Given the description of an element on the screen output the (x, y) to click on. 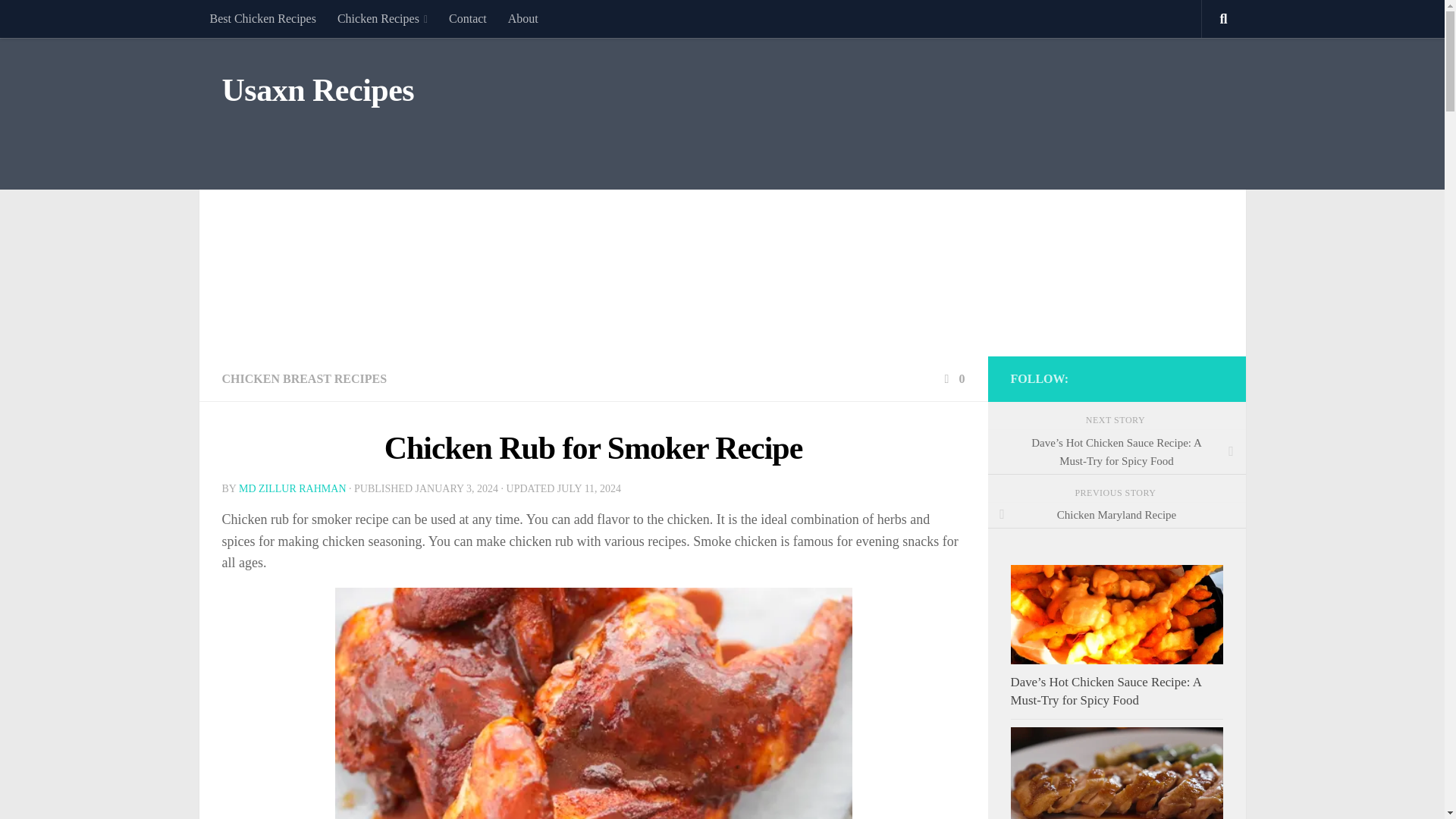
Skip to content (59, 20)
Chicken Maryland Recipe (1115, 515)
Posts by MD ZILLUR RAHMAN (292, 488)
0 (951, 378)
About (522, 18)
Chicken Recipes (382, 18)
Contact (467, 18)
CHICKEN BREAST RECIPES (304, 378)
Usaxn Recipes (317, 90)
